Given the description of an element on the screen output the (x, y) to click on. 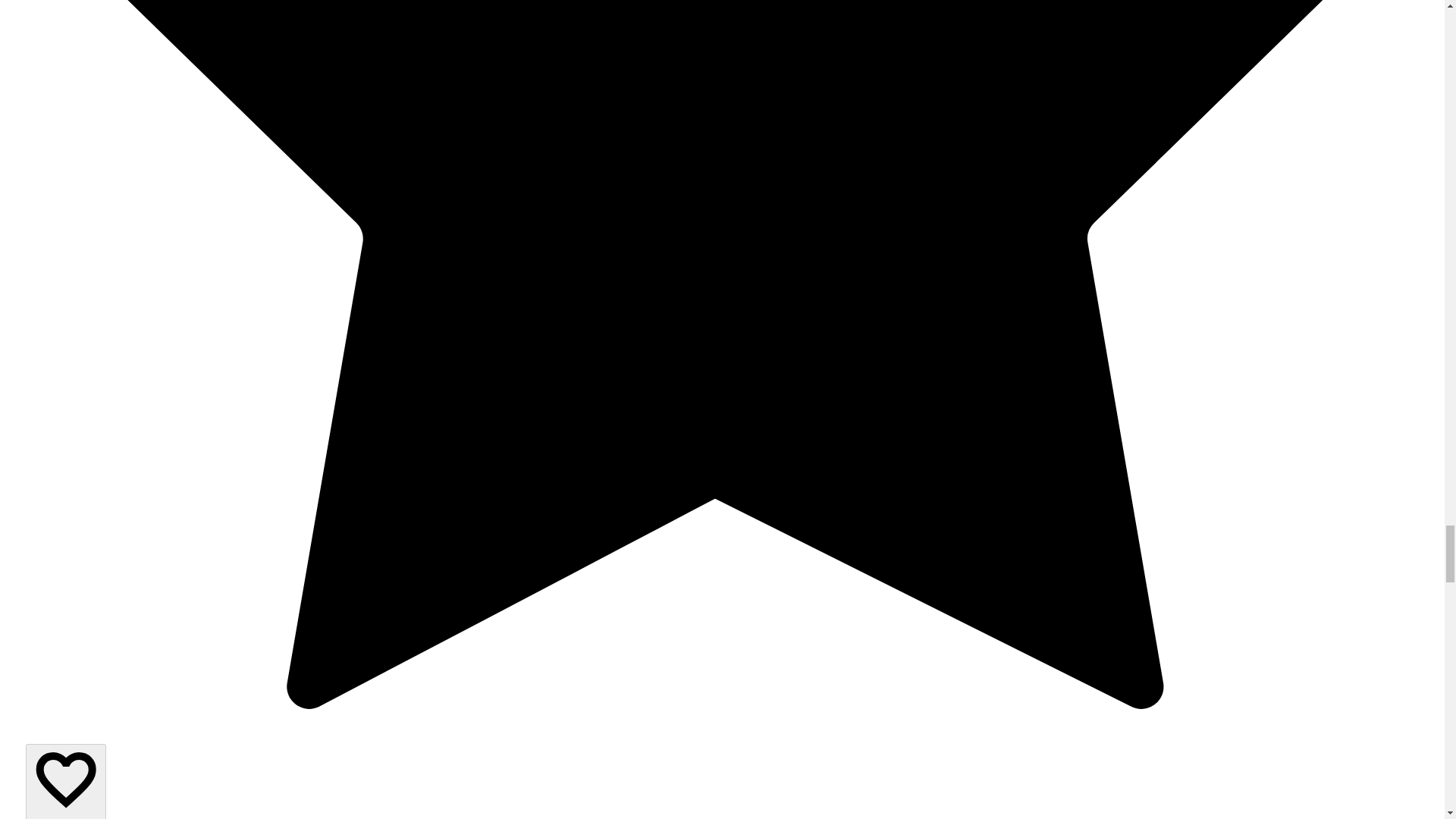
Add to Favorite (66, 781)
